Given the description of an element on the screen output the (x, y) to click on. 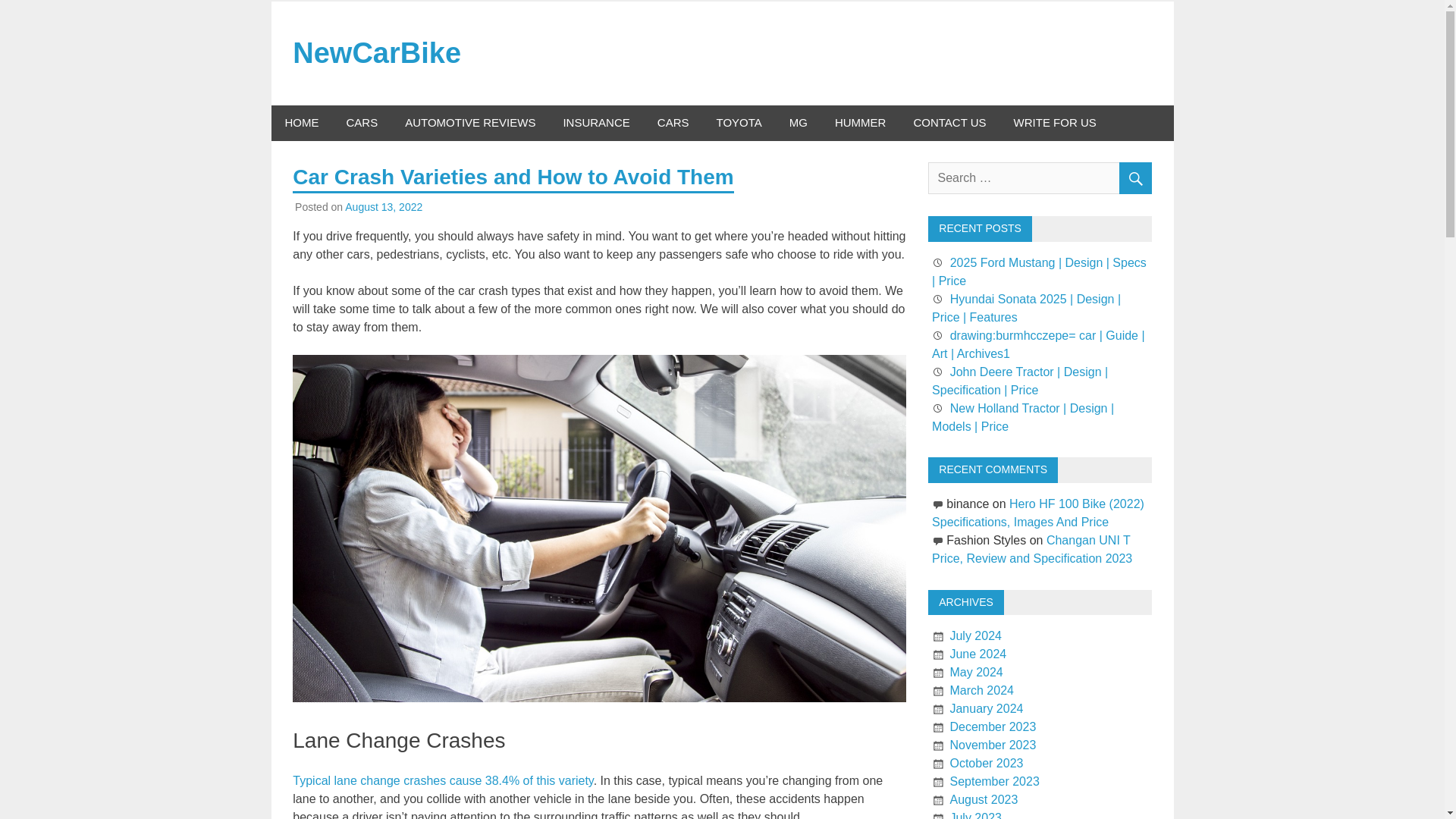
CARS (361, 122)
WRITE FOR US (1054, 122)
3:11 pm (383, 206)
August 13, 2022 (383, 206)
TOYOTA (737, 122)
INSURANCE (595, 122)
CARS (673, 122)
July 2024 (975, 635)
MG (798, 122)
June 2024 (977, 653)
